Given the description of an element on the screen output the (x, y) to click on. 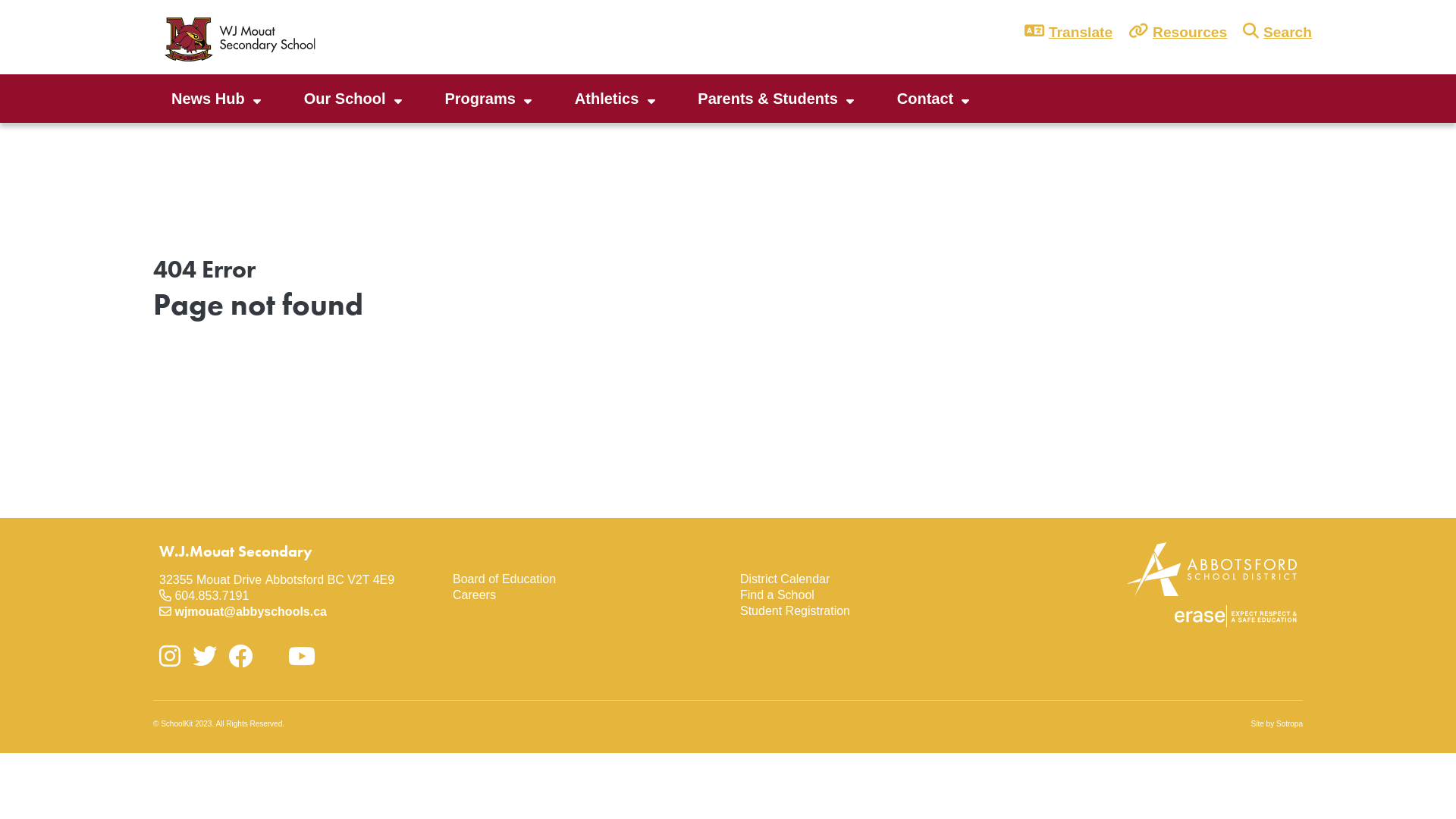
Sotropa Element type: text (1289, 723)
Careers Element type: text (583, 595)
wjmouat@abbyschools.ca Element type: text (250, 611)
District Calendar Element type: text (871, 579)
Home Element type: hover (244, 37)
Footer Element type: text (734, 542)
Search Element type: text (1284, 32)
604.853.7191 Element type: text (211, 595)
Student Registration Element type: text (871, 611)
Footer Element type: text (446, 542)
Find a School Element type: text (871, 595)
Board of Education Element type: text (583, 579)
Translate Element type: text (1080, 32)
Resources Element type: text (1187, 32)
Skip to main content Element type: text (0, 0)
